Given the description of an element on the screen output the (x, y) to click on. 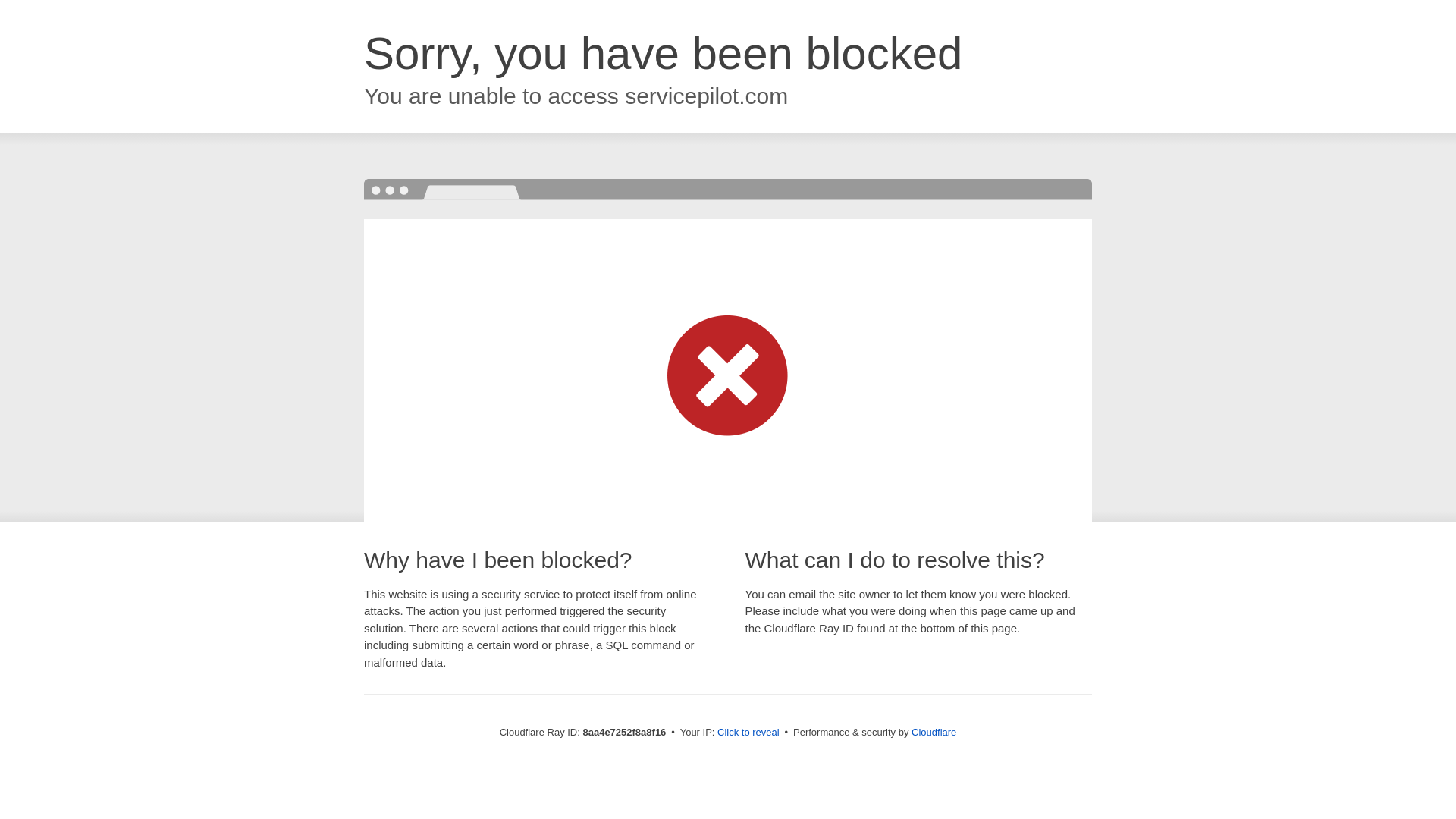
Click to reveal (747, 732)
Cloudflare (933, 731)
